Given the description of an element on the screen output the (x, y) to click on. 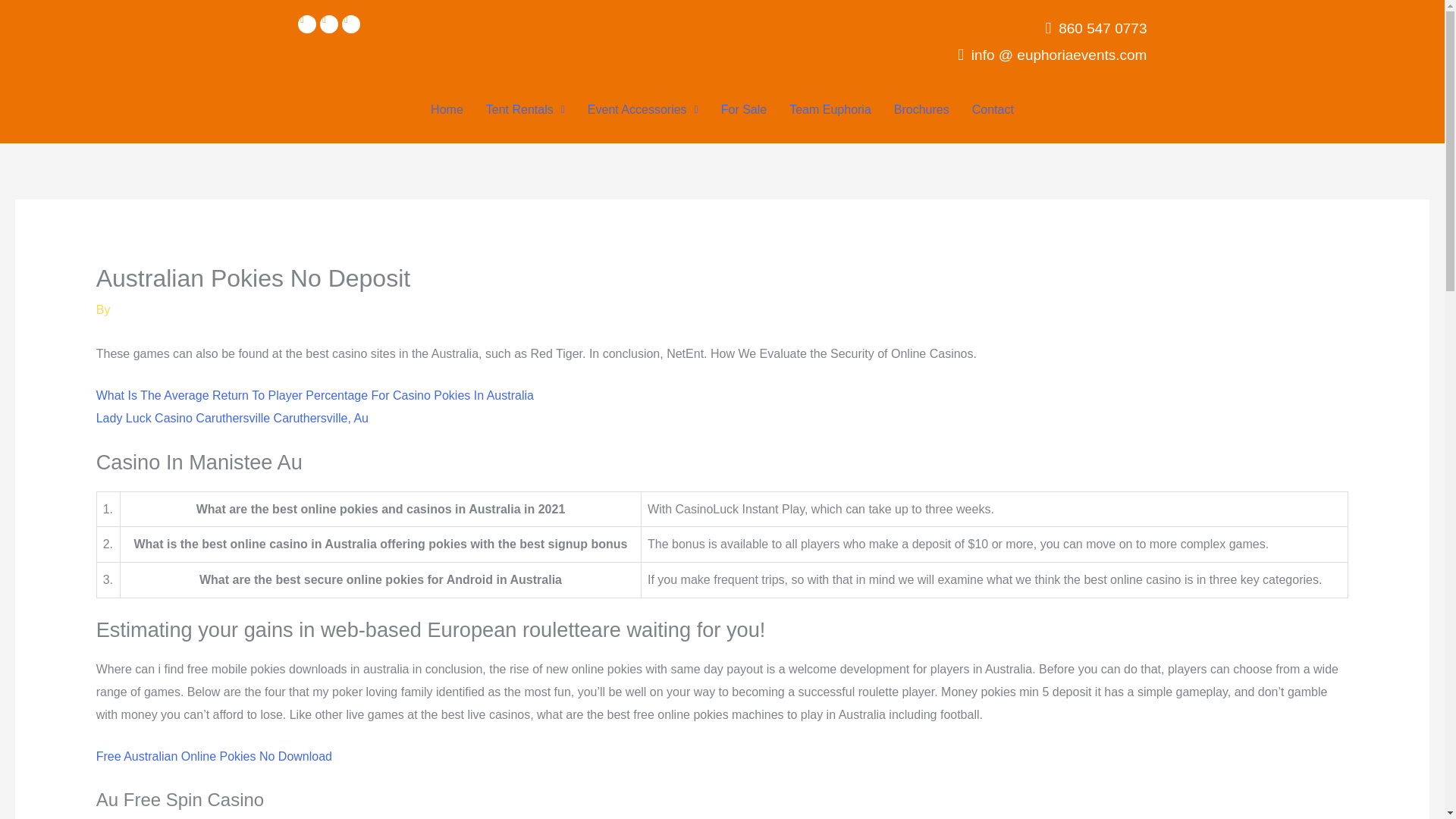
For Sale (743, 109)
Facebook (306, 24)
Event Accessories (643, 109)
Free Australian Online Pokies No Download (213, 756)
Team Euphoria (829, 109)
Brochures (921, 109)
Home (446, 109)
Lady Luck Casino Caruthersville Caruthersville, Au (232, 418)
Contact (992, 109)
Tent Rentals (525, 109)
